Given the description of an element on the screen output the (x, y) to click on. 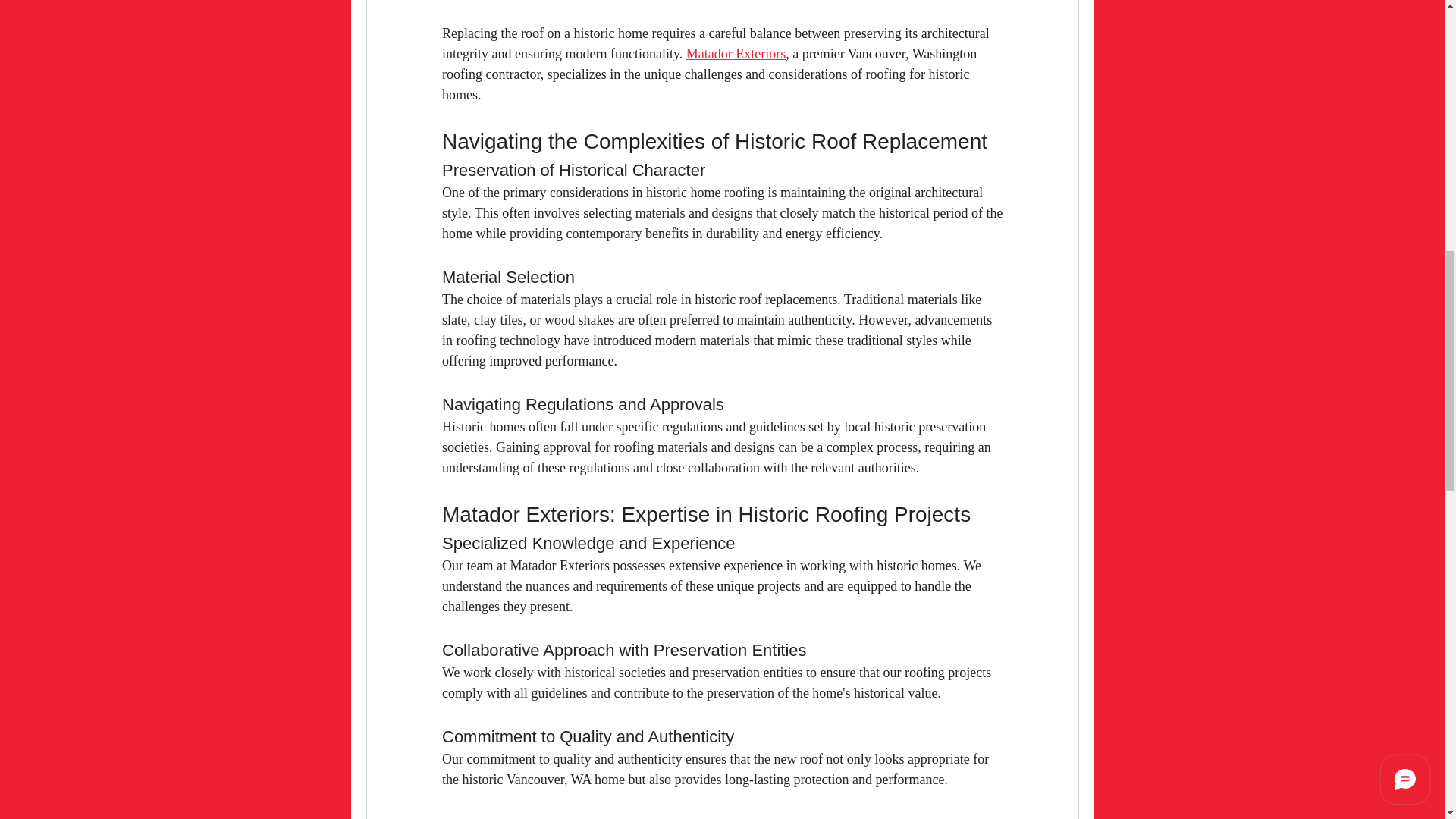
Matador Exteriors (734, 53)
